Given the description of an element on the screen output the (x, y) to click on. 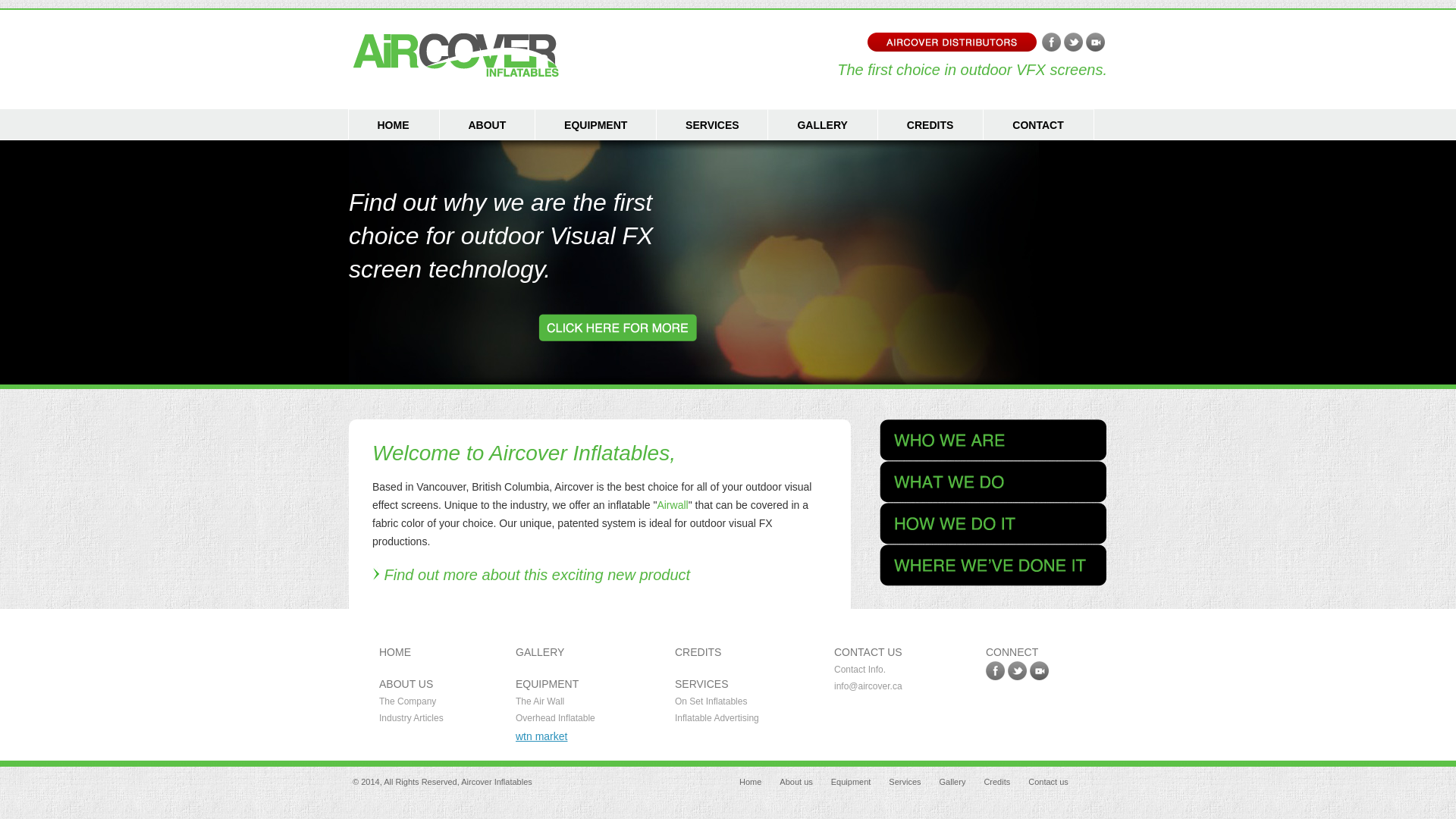
Overhead Inflatable Element type: text (555, 717)
Aircover Inflatables - Vancouver BC Element type: hover (455, 55)
ABOUT US Element type: text (406, 683)
Contact us Element type: text (1044, 781)
On Set Inflatables Element type: text (710, 701)
Find out more about this exciting new product Element type: text (531, 574)
EQUIPMENT Element type: text (546, 683)
About us Element type: text (791, 781)
CONTACT US Element type: text (868, 652)
Services Element type: text (900, 781)
GALLERY Element type: text (822, 124)
Airwall Element type: text (671, 504)
Equipment Element type: text (847, 781)
CONTACT Element type: text (1038, 124)
Industry Articles Element type: text (411, 717)
Contact Info. Element type: text (859, 669)
GALLERY Element type: text (539, 652)
info@aircover.ca Element type: text (868, 685)
Credits Element type: text (992, 781)
CREDITS Element type: text (930, 124)
HOME Element type: text (395, 652)
Inflatable Advertising Element type: text (716, 717)
SERVICES Element type: text (701, 683)
Gallery Element type: text (948, 781)
Home Element type: text (746, 781)
HOME Element type: text (393, 124)
The Air Wall Element type: text (539, 701)
CREDITS Element type: text (697, 652)
The Company Element type: text (407, 701)
wtn market Element type: text (541, 736)
